Given the description of an element on the screen output the (x, y) to click on. 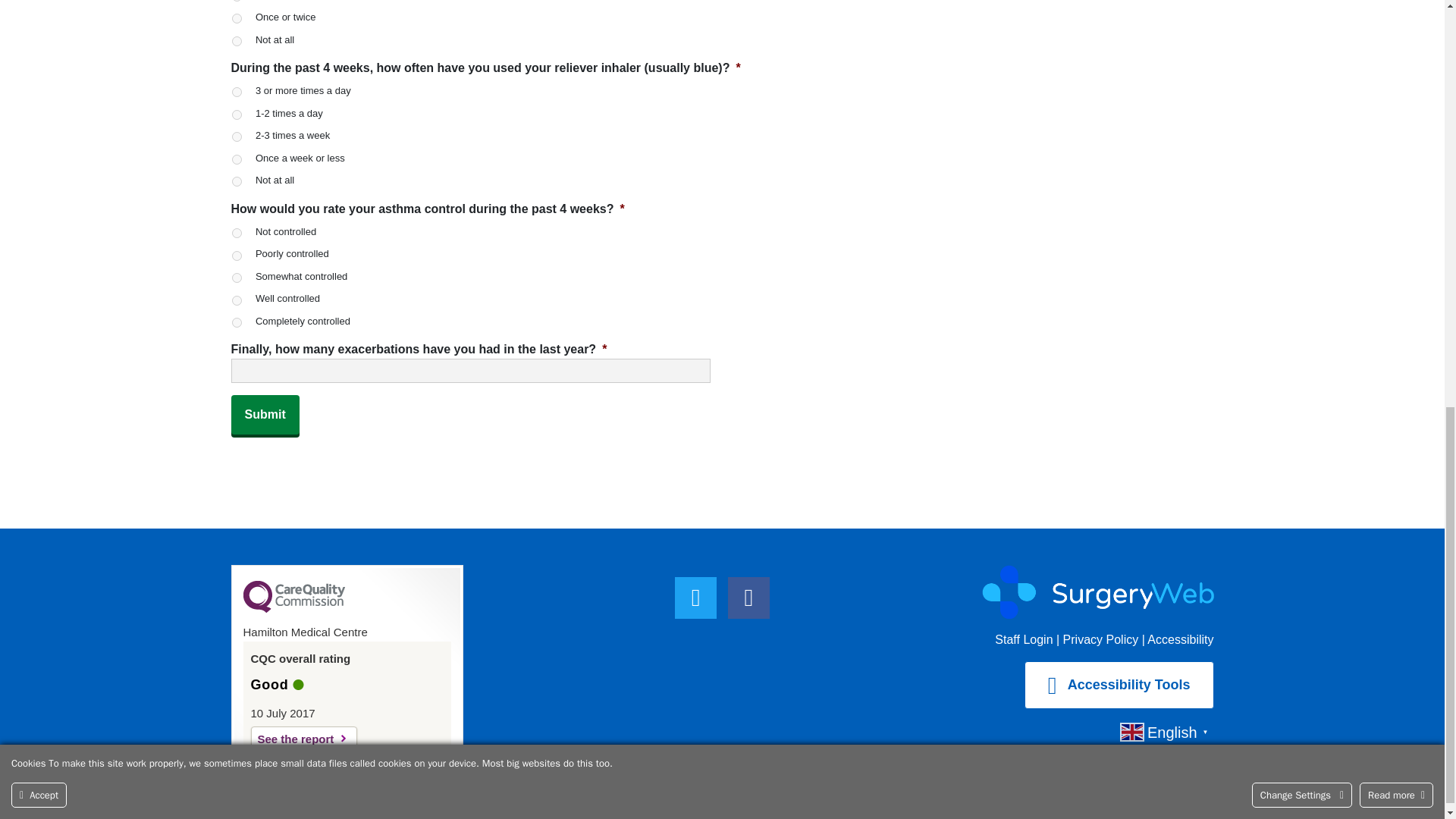
3 or more times a day (236, 91)
Not at all (236, 40)
Once or twice (236, 18)
1-2 times a day (236, 114)
CQC Logo (293, 608)
